Given the description of an element on the screen output the (x, y) to click on. 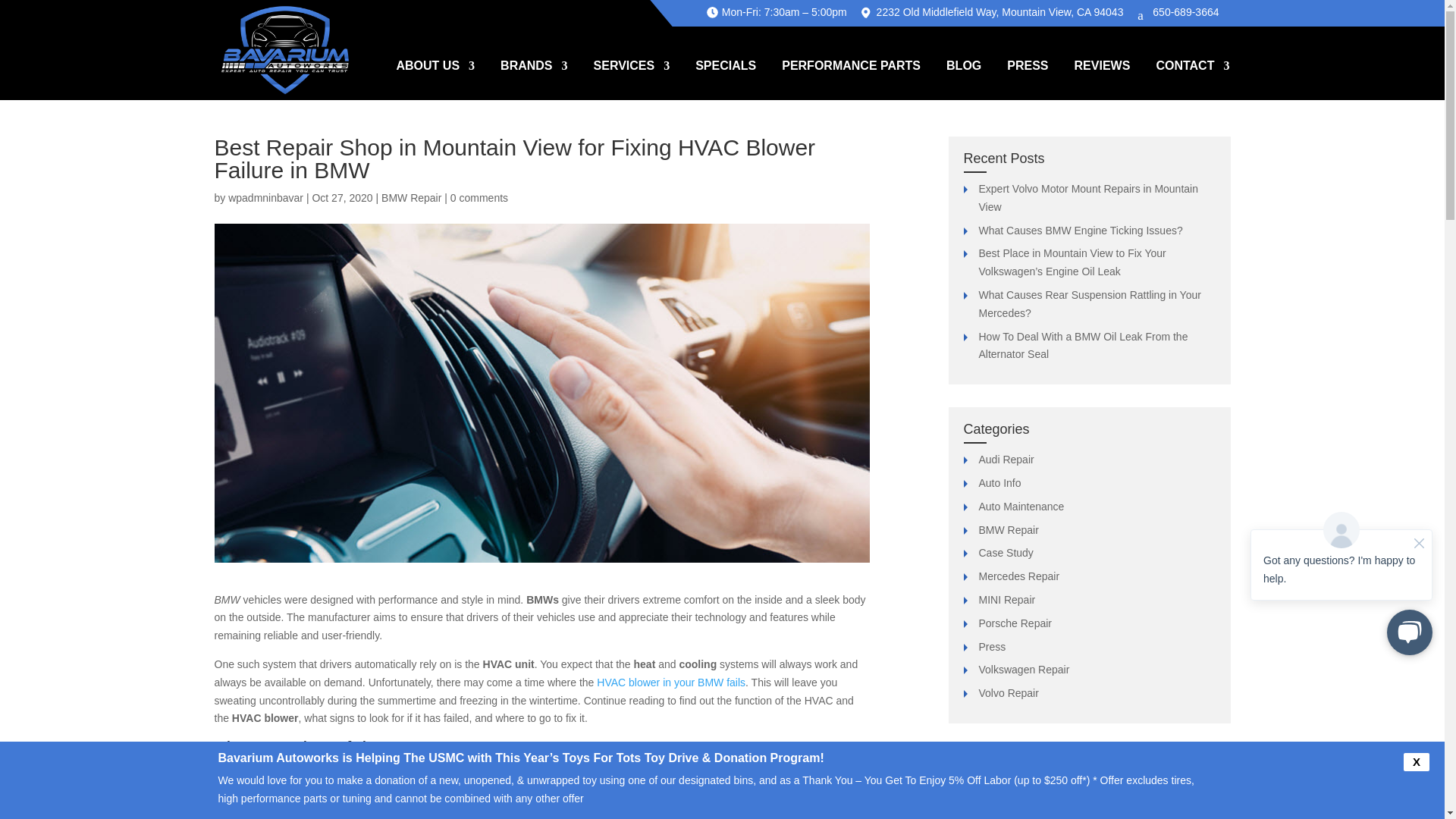
CONTACT (1192, 78)
BLOG (963, 78)
PERFORMANCE PARTS (850, 78)
PRESS (1027, 78)
REVIEWS (1102, 78)
SERVICES (631, 78)
SPECIALS (725, 78)
ABOUT US (435, 78)
Posts by wpadmninbavar (265, 197)
BRANDS (533, 78)
650-689-3664 (1177, 11)
